Given the description of an element on the screen output the (x, y) to click on. 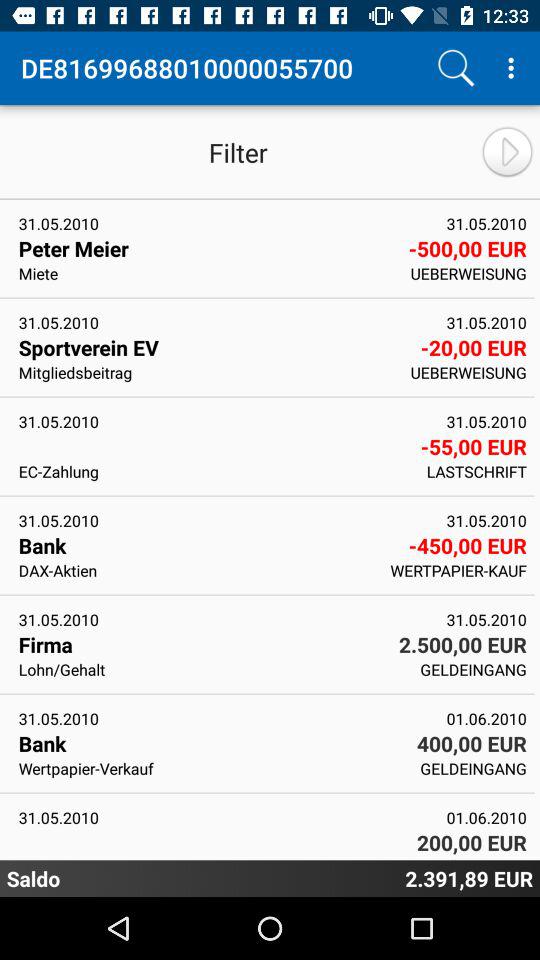
click the peter meier app (206, 248)
